Given the description of an element on the screen output the (x, y) to click on. 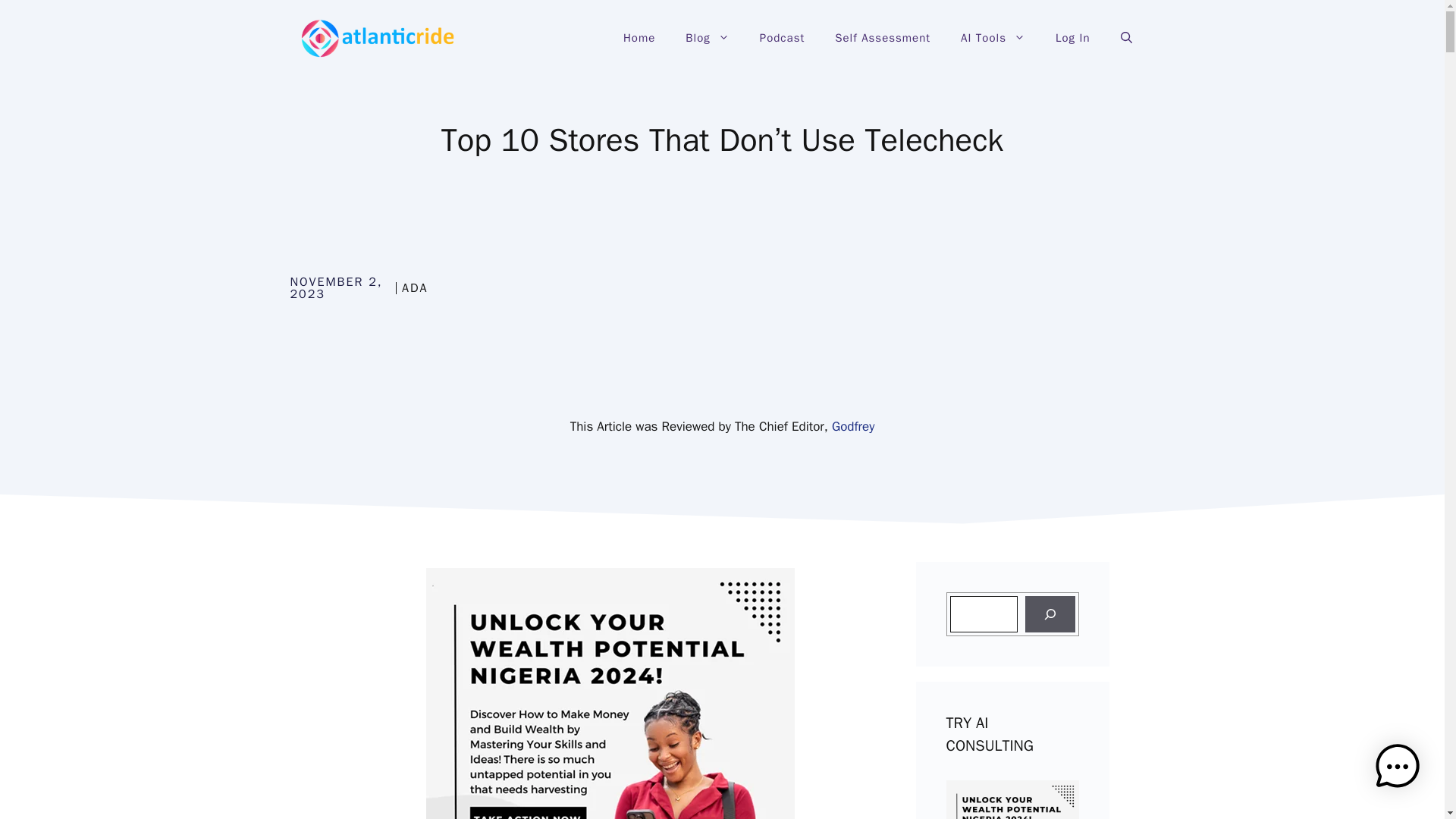
Podcast (781, 37)
Self Assessment (881, 37)
Blog (706, 37)
Home (638, 37)
Godfrey (853, 426)
AI Tools (992, 37)
ADA (414, 287)
Log In (1073, 37)
